Given the description of an element on the screen output the (x, y) to click on. 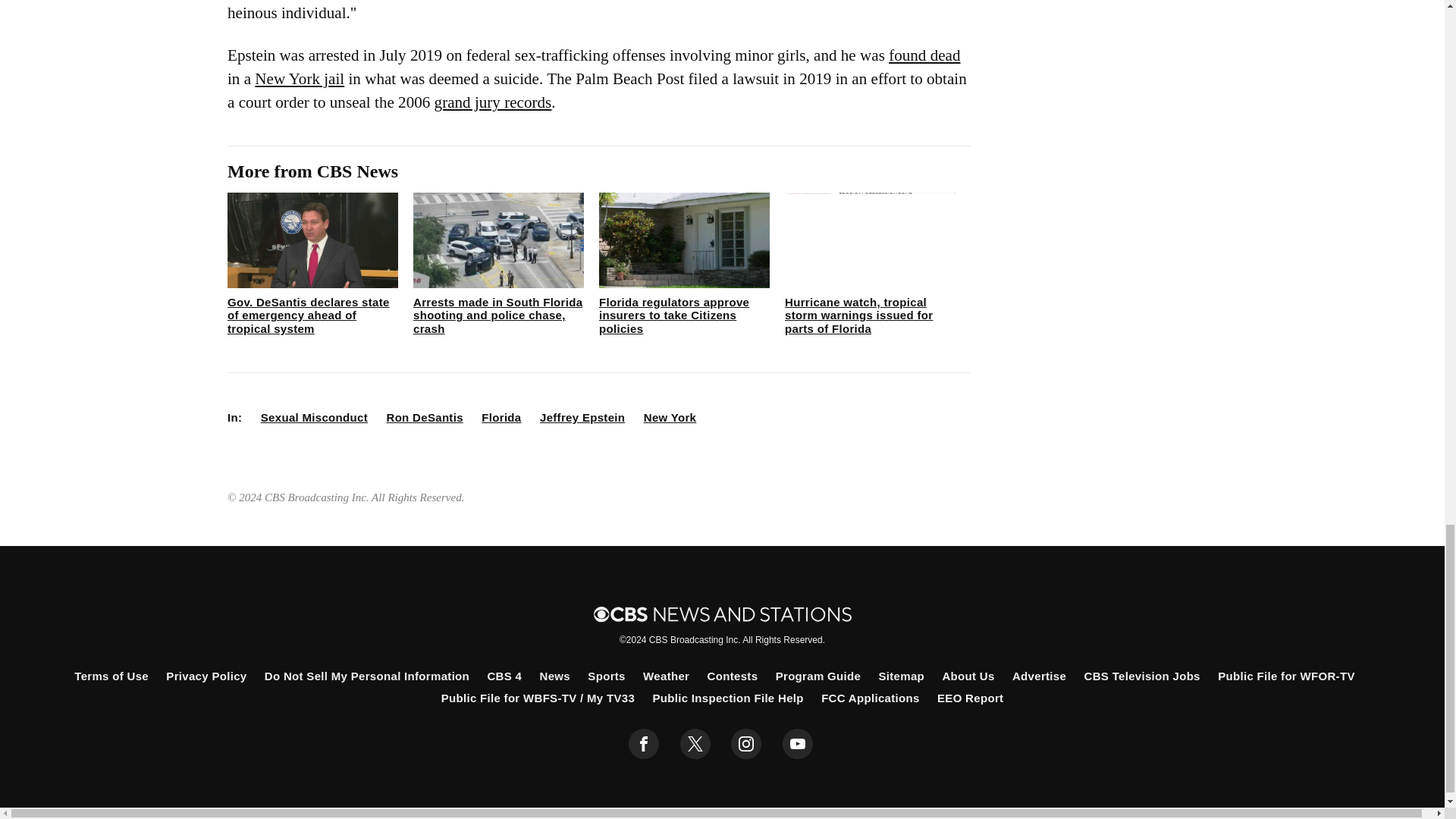
facebook (643, 743)
instagram (745, 743)
youtube (797, 743)
twitter (694, 743)
